Given the description of an element on the screen output the (x, y) to click on. 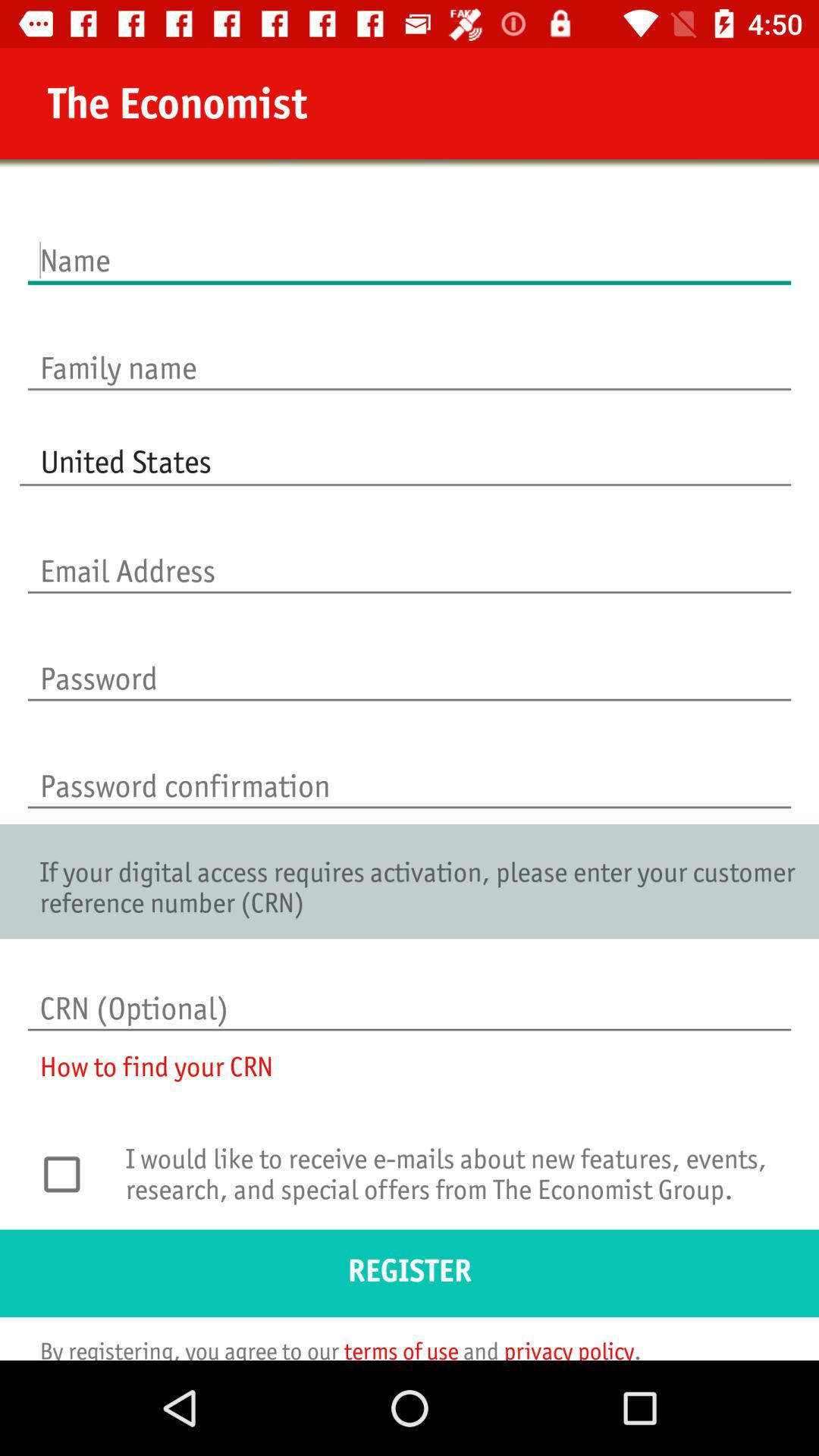
turn off icon below if your digital item (409, 992)
